Given the description of an element on the screen output the (x, y) to click on. 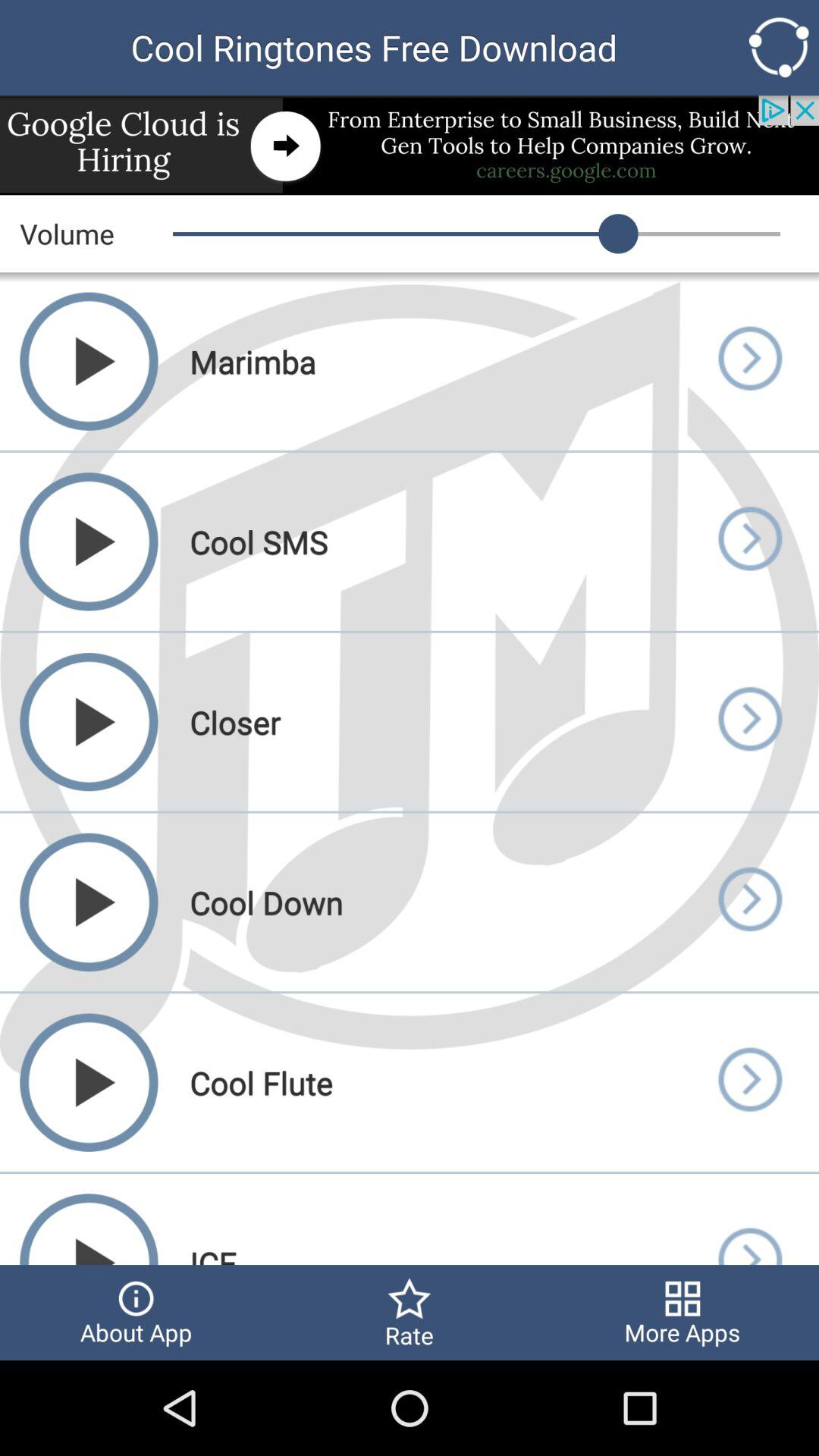
play sound button (749, 1218)
